Given the description of an element on the screen output the (x, y) to click on. 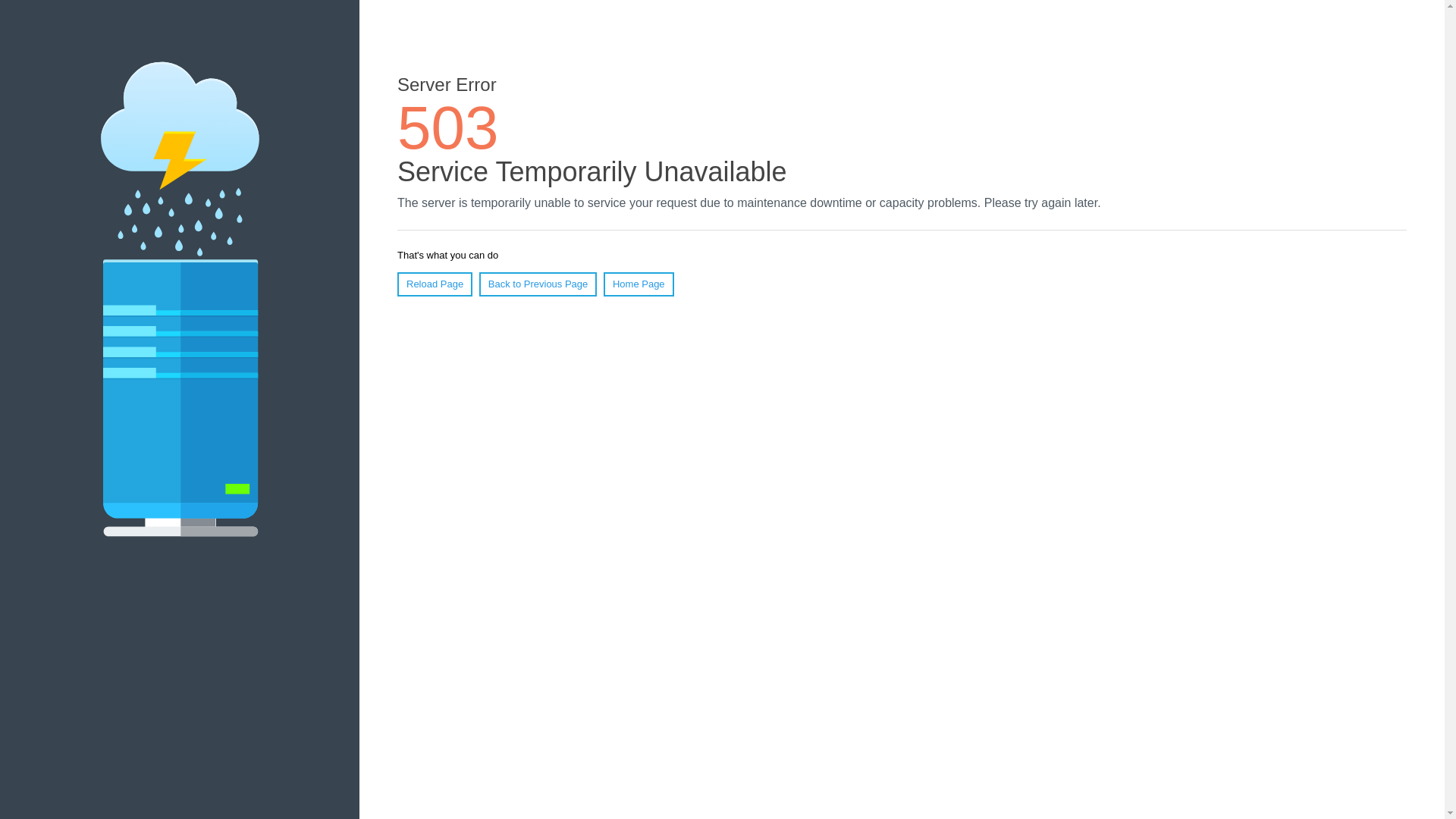
Home Page (639, 283)
Back to Previous Page (537, 283)
Reload Page (434, 283)
